Given the description of an element on the screen output the (x, y) to click on. 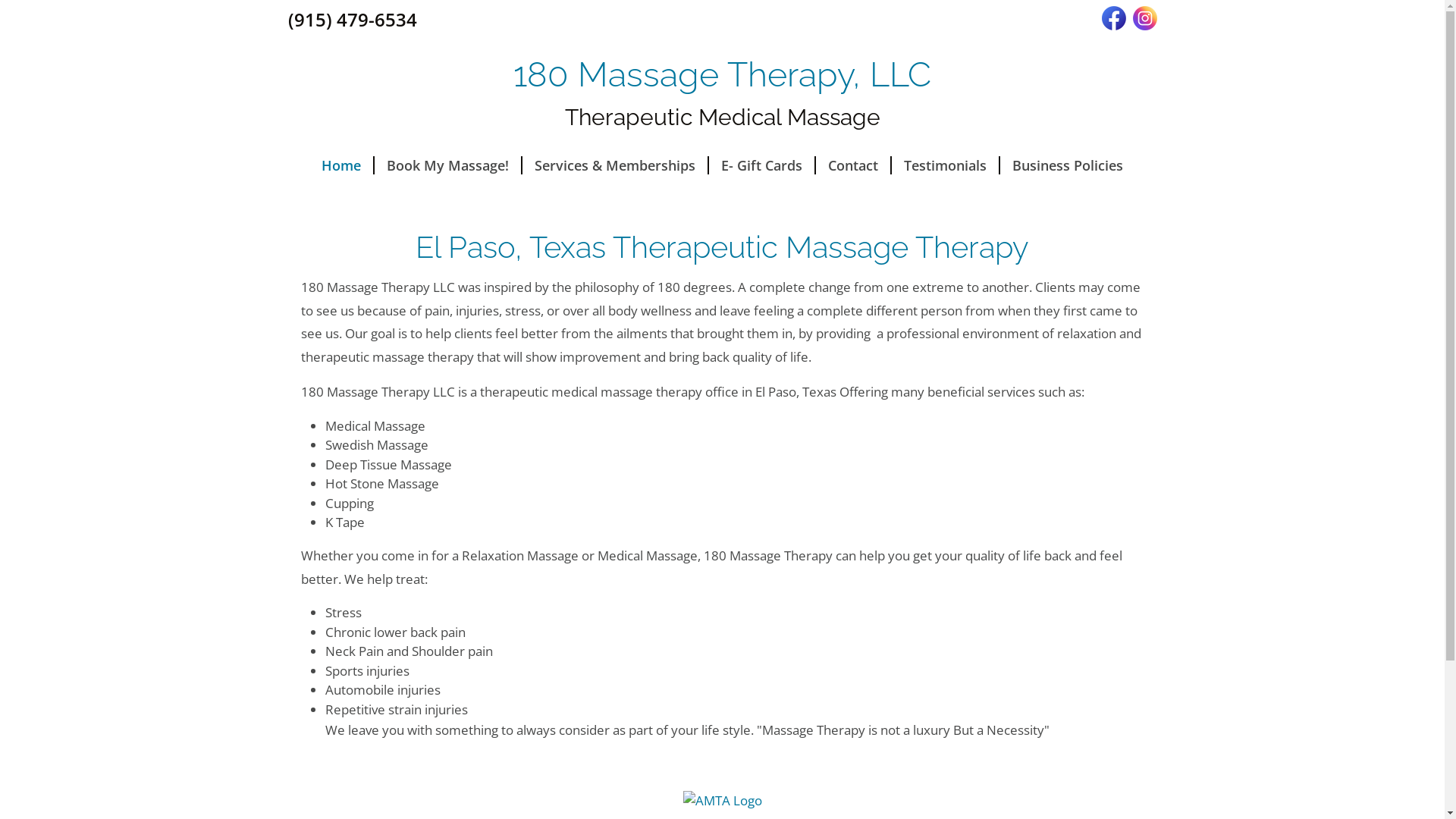
Testimonials Element type: text (945, 165)
Services & Memberships Element type: text (615, 165)
Book My Massage! Element type: text (448, 165)
E- Gift Cards Element type: text (762, 165)
Home Element type: text (341, 165)
Business Policies Element type: text (1067, 165)
Contact Element type: text (853, 165)
